Given the description of an element on the screen output the (x, y) to click on. 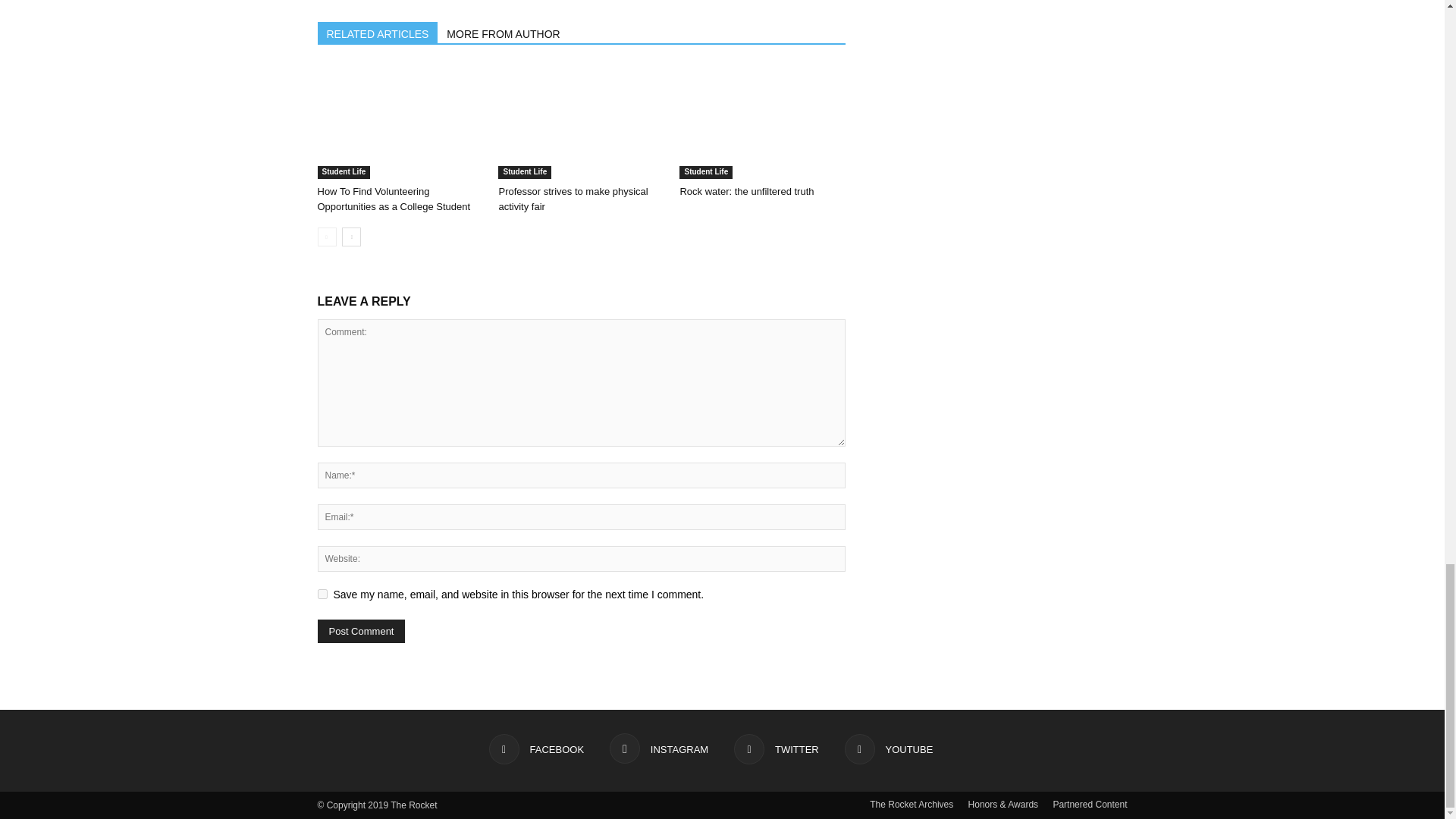
Professor strives to make physical activity fair (572, 198)
Rock water: the unfiltered truth (761, 122)
How To Find Volunteering Opportunities as a College Student (393, 198)
How To Find Volunteering Opportunities as a College Student (399, 122)
Post Comment (360, 630)
yes (321, 593)
Professor strives to make physical activity fair (580, 122)
